Given the description of an element on the screen output the (x, y) to click on. 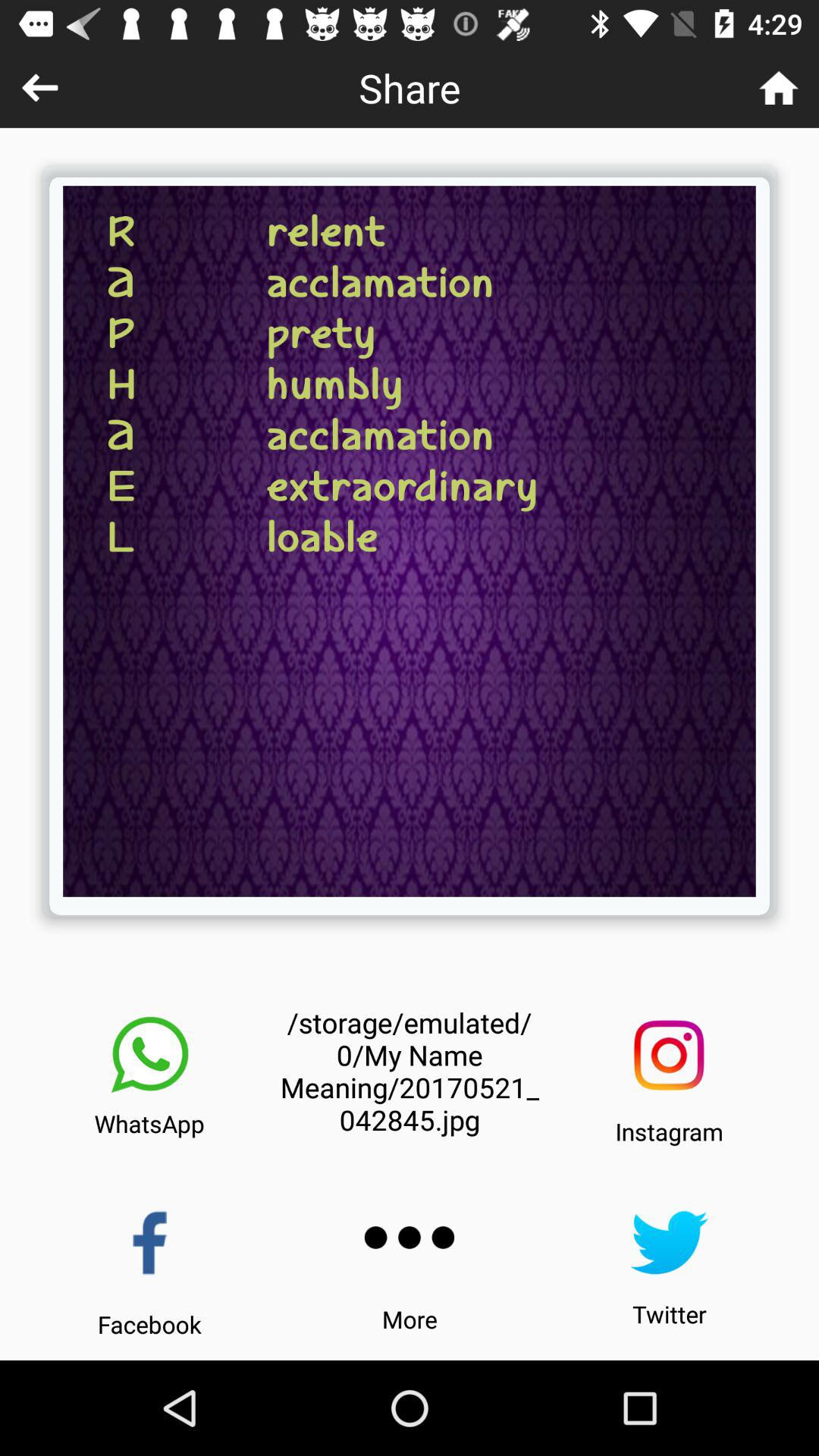
tap the icon to the left of the storage emulated 0 icon (149, 1055)
